Given the description of an element on the screen output the (x, y) to click on. 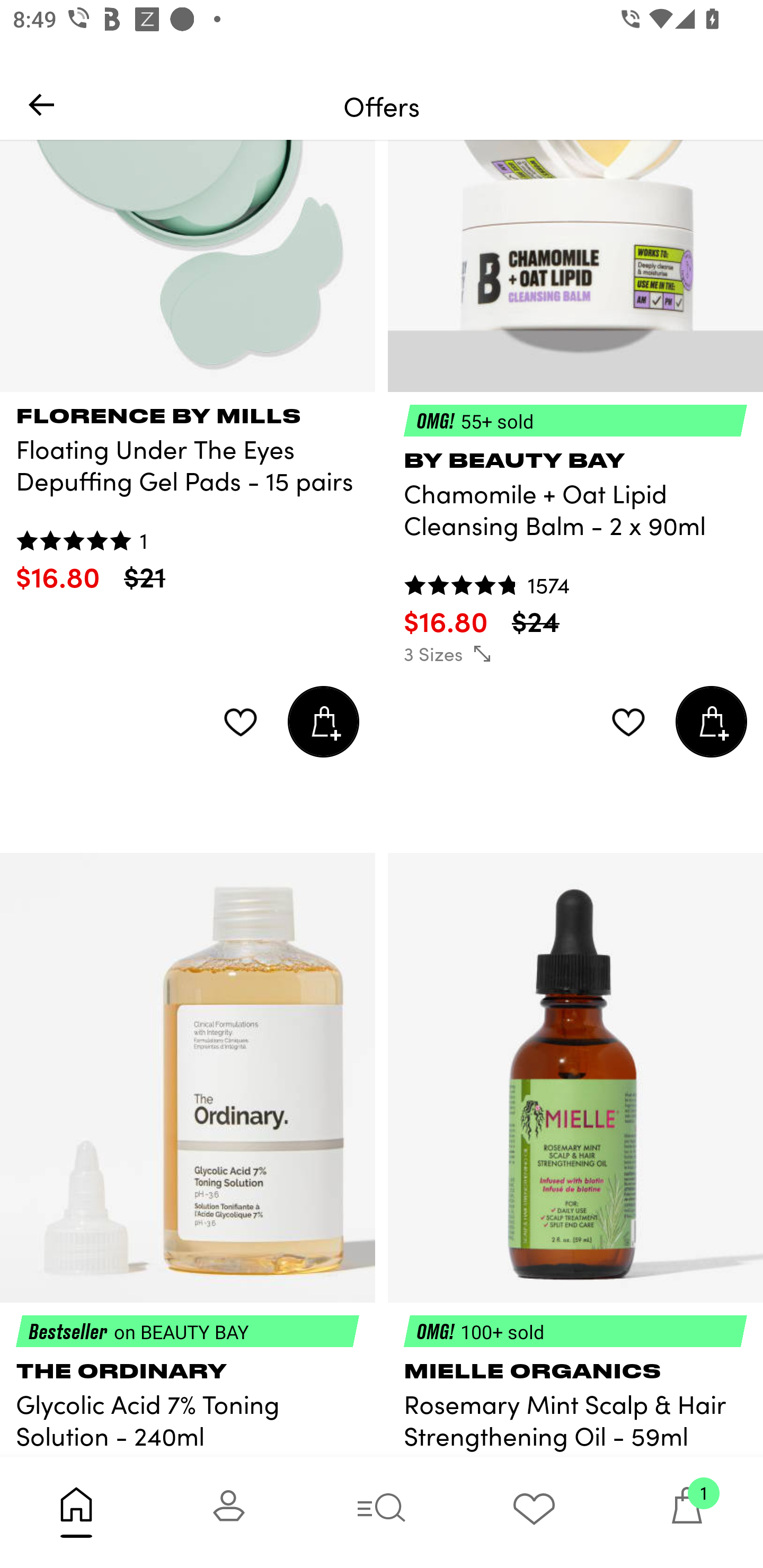
1 (686, 1512)
